Given the description of an element on the screen output the (x, y) to click on. 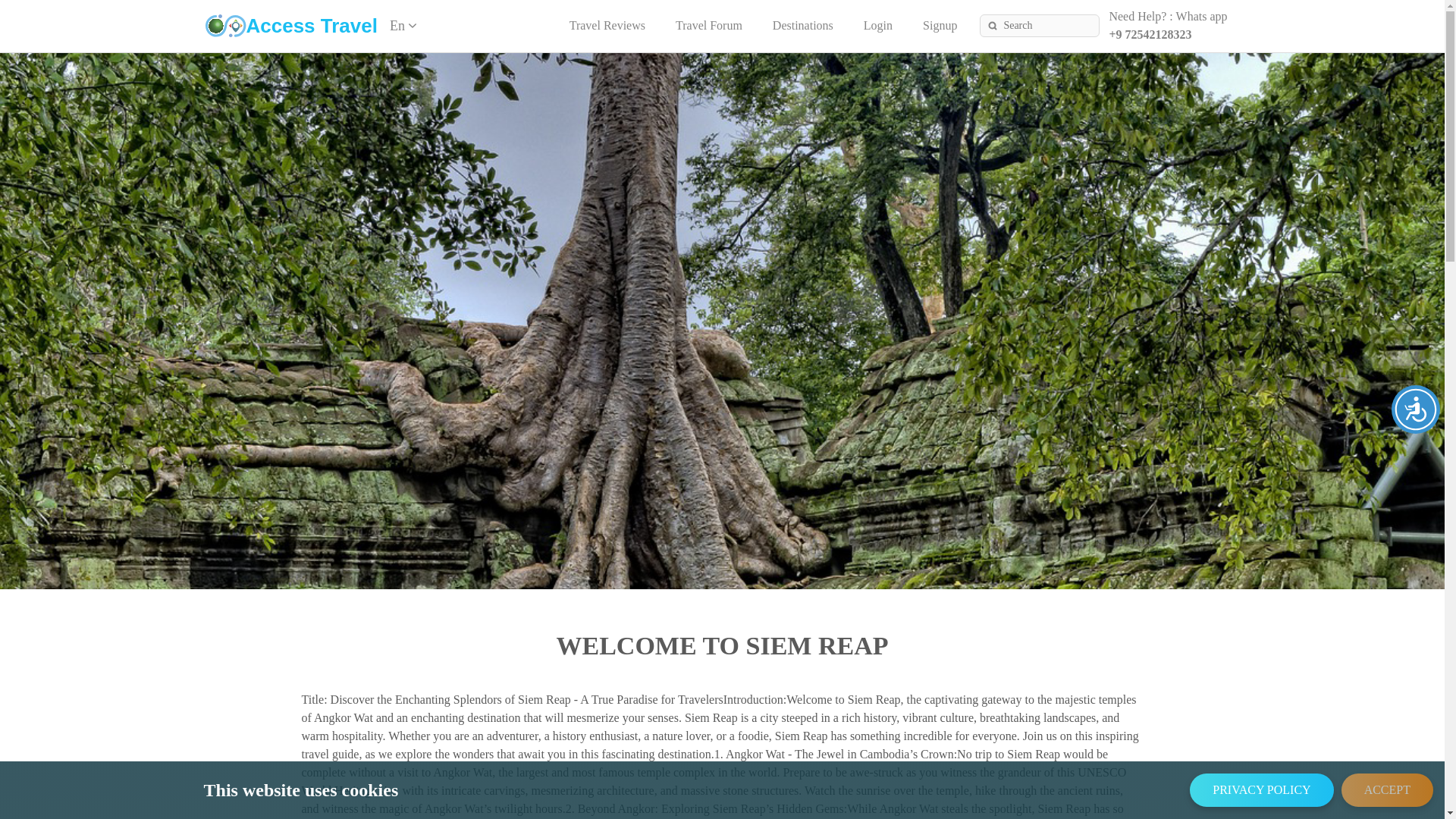
Access Travel (291, 25)
Accessibility Menu (1415, 409)
Travel Reviews (607, 24)
Destinations (802, 24)
PRIVACY POLICY (1261, 789)
Signup (939, 24)
Login (877, 24)
Travel Forum (708, 24)
ACCEPT (1386, 789)
